Given the description of an element on the screen output the (x, y) to click on. 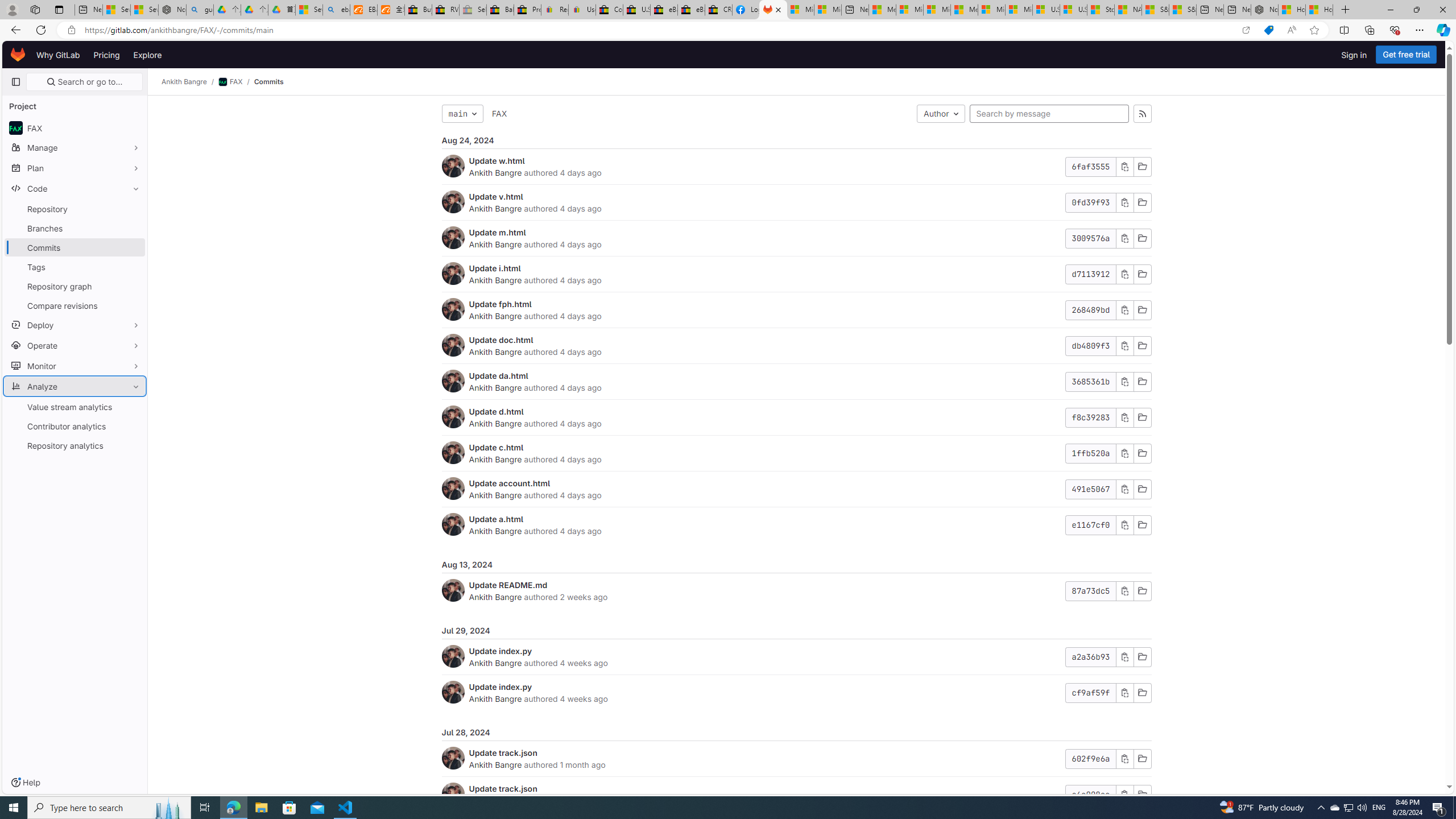
Compare revisions (74, 305)
FAX/ (236, 81)
Update a.htmlAnkith Bangre authored 4 days agoe1167cf0 (796, 524)
Update c.html (496, 447)
Copied (1124, 381)
Author (941, 113)
Manage (74, 147)
Repository analytics (74, 445)
avatar FAX (74, 127)
Update index.py (500, 686)
